Given the description of an element on the screen output the (x, y) to click on. 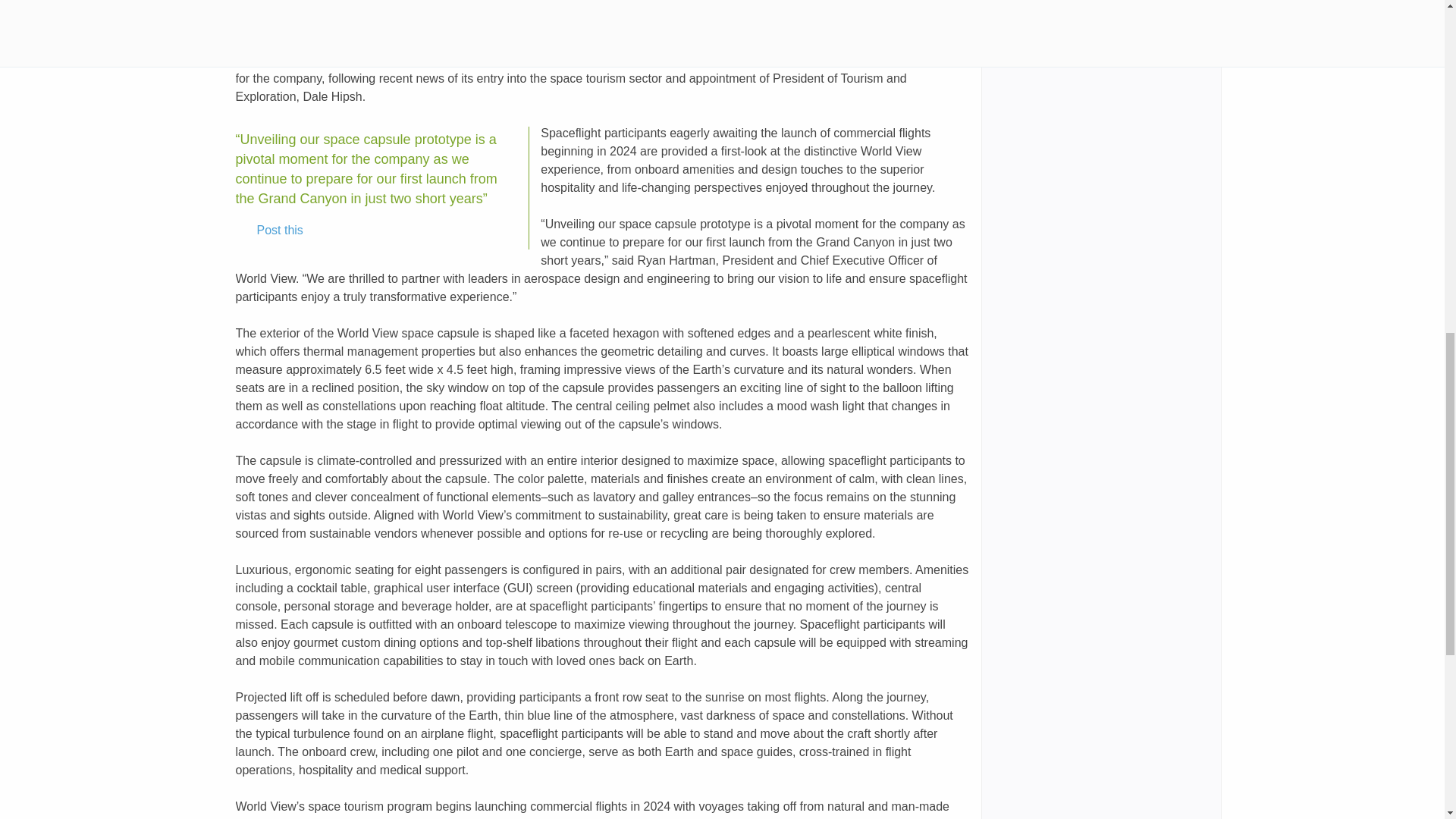
Post this (269, 230)
BUSINESS WIRE (377, 42)
World View (467, 42)
